Given the description of an element on the screen output the (x, y) to click on. 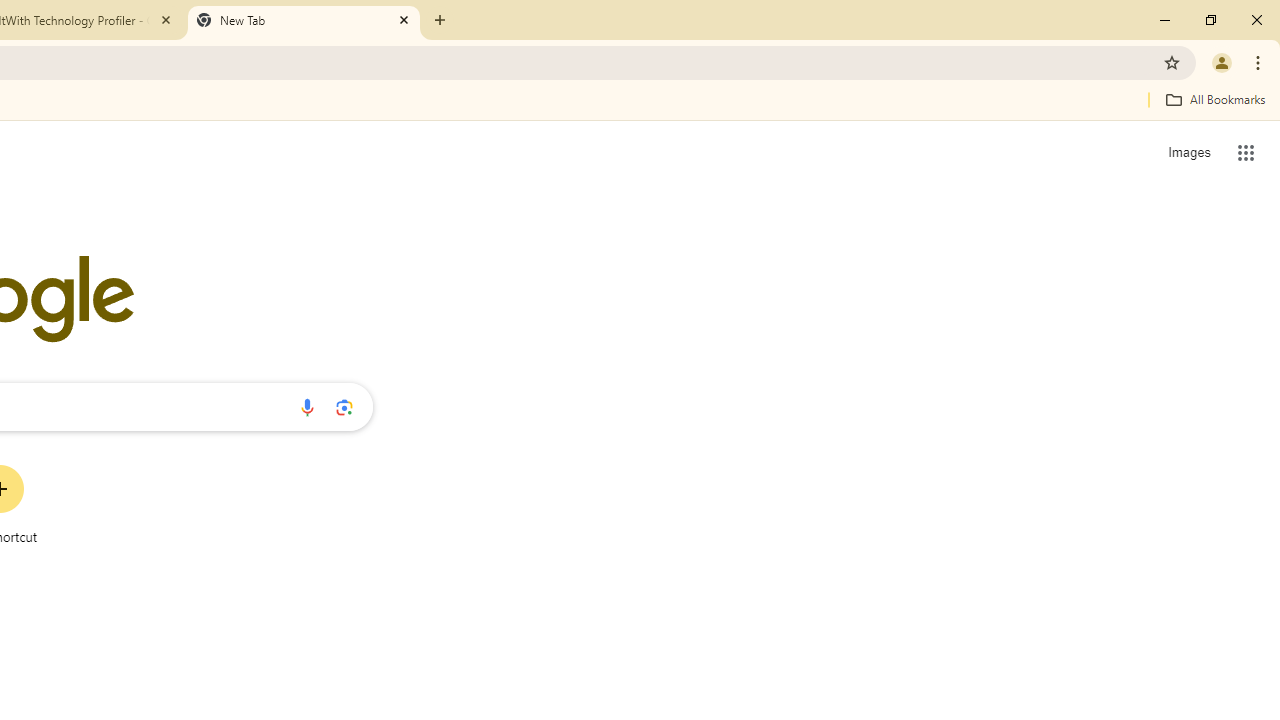
Restore (1210, 20)
Close (404, 19)
New Tab (440, 20)
Search by image (344, 407)
Google apps (1245, 152)
You (1221, 62)
Search by voice (307, 407)
Search for Images  (1188, 152)
Minimize (1165, 20)
Bookmark this tab (1171, 62)
All Bookmarks (1215, 99)
Chrome (1260, 62)
New Tab (304, 20)
